Given the description of an element on the screen output the (x, y) to click on. 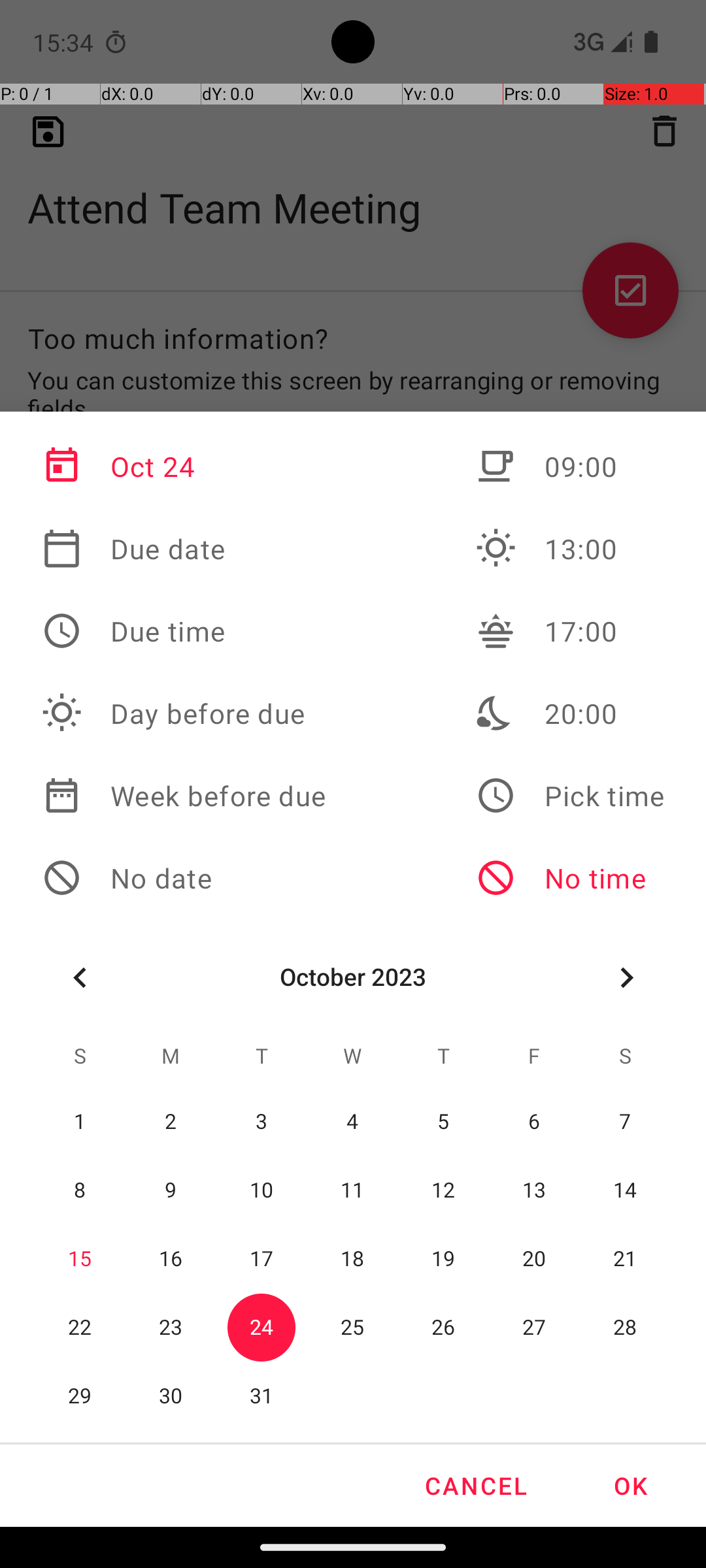
Oct 24 Element type: android.widget.CompoundButton (183, 466)
